Given the description of an element on the screen output the (x, y) to click on. 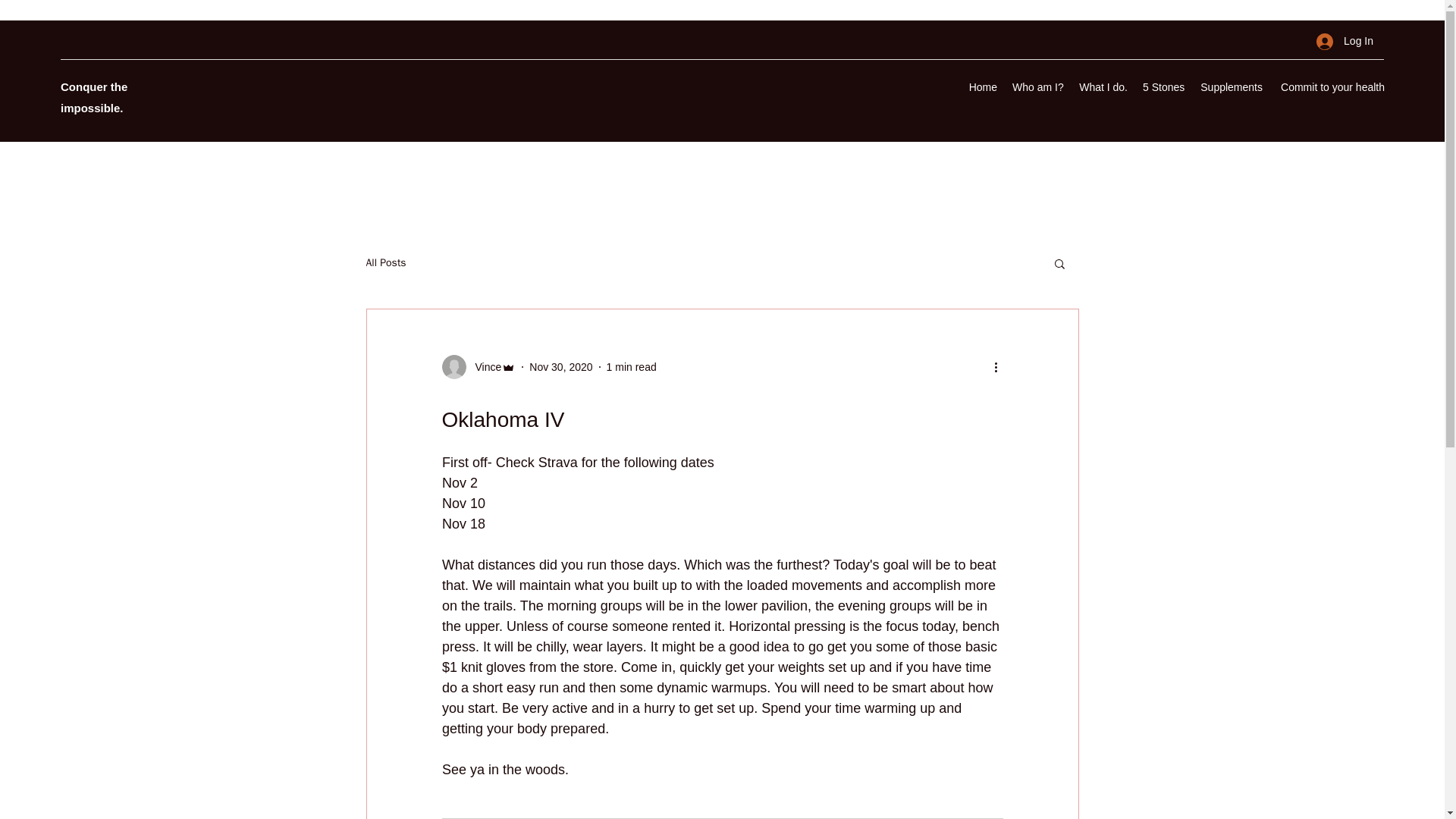
All Posts (385, 263)
Who am I? (1037, 87)
Home (982, 87)
5 Stones (1163, 87)
Supplements (1230, 87)
1 min read (631, 367)
Vince (482, 367)
Vince (478, 366)
Commit to your health (1330, 87)
Log In (1345, 41)
